Given the description of an element on the screen output the (x, y) to click on. 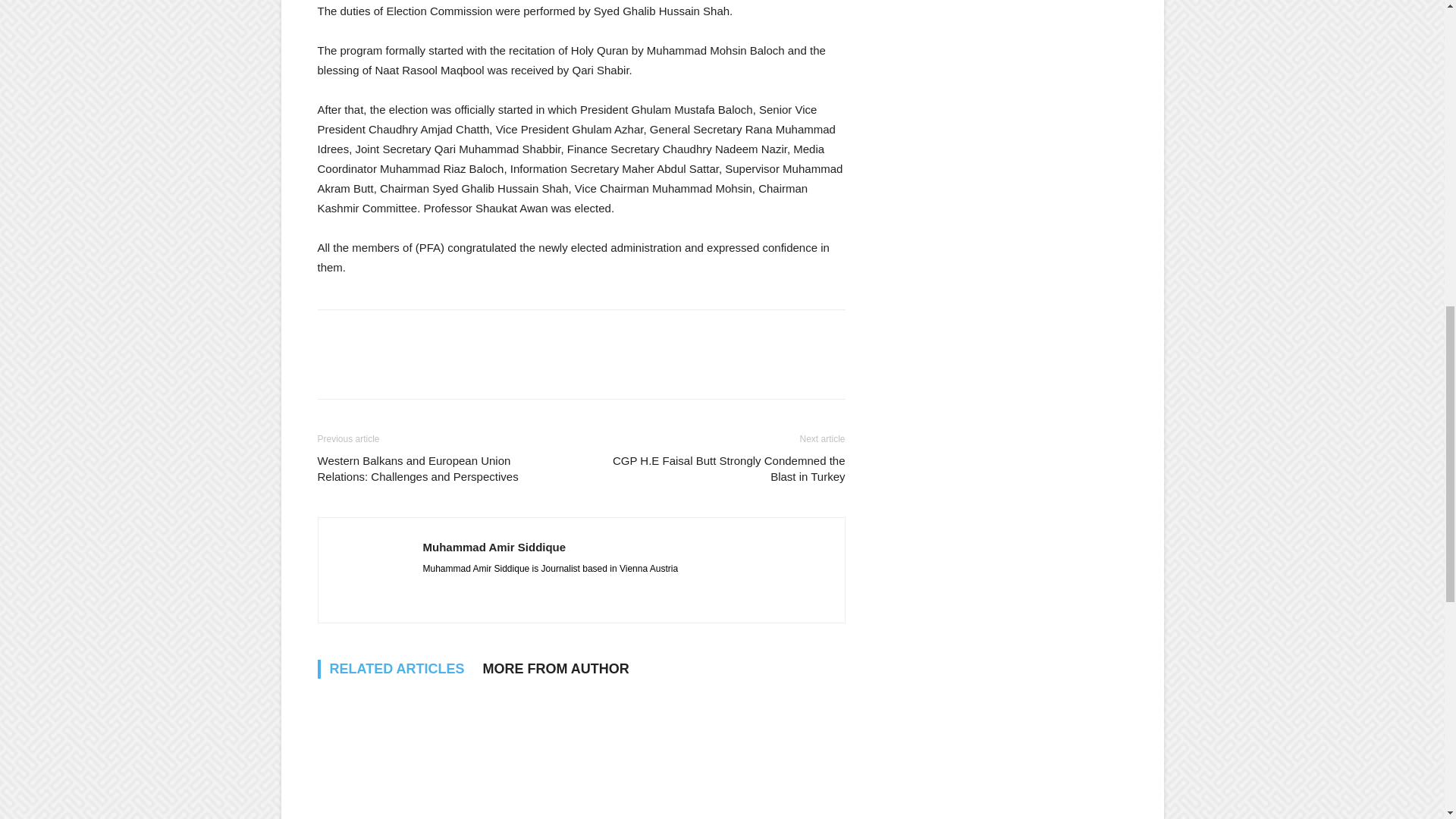
Ambassador Kamran Akhtar Presented his credentials to UN (580, 755)
Hamas leader Ismail Haniyeh killed in an Israeli Attack (399, 755)
